Given the description of an element on the screen output the (x, y) to click on. 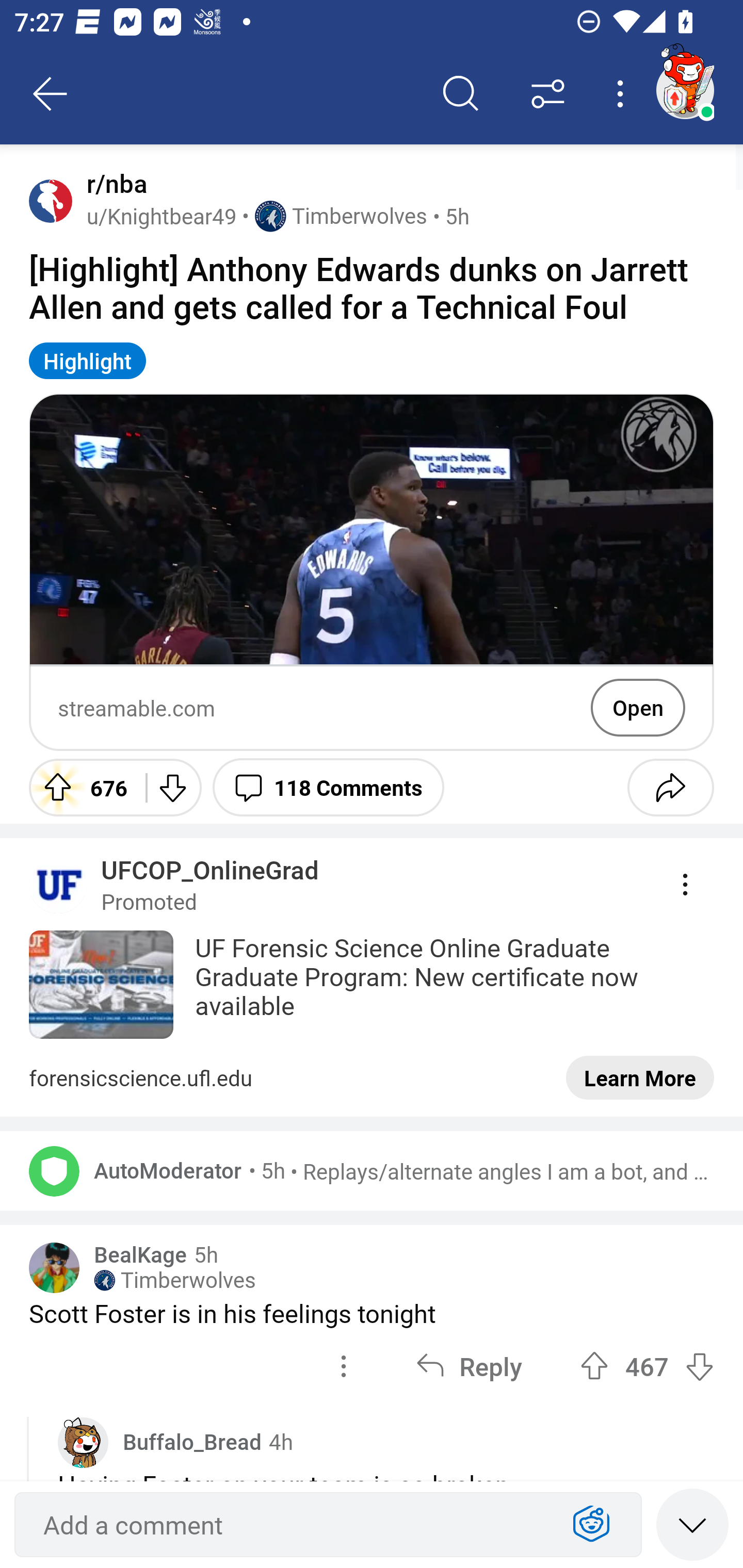
Back (50, 93)
TestAppium002 account (685, 90)
Search comments (460, 93)
Sort comments (547, 93)
More options (623, 93)
r/nba (113, 183)
Avatar (50, 200)
Highlight (87, 360)
Preview Image streamable.com Open (371, 572)
Open (637, 707)
Upvote 676 (79, 787)
Downvote (171, 787)
118 Comments (328, 787)
Share (670, 787)
Avatar (53, 1171)
Avatar (53, 1267)
￼ Timberwolves (174, 1280)
Scott Foster is in his feelings tonight (371, 1312)
options (343, 1365)
Reply (469, 1365)
Upvote 467 467 votes Downvote (647, 1365)
Custom avatar (82, 1442)
Speed read (692, 1524)
Add a comment (291, 1524)
Show Expressions (590, 1524)
